Given the description of an element on the screen output the (x, y) to click on. 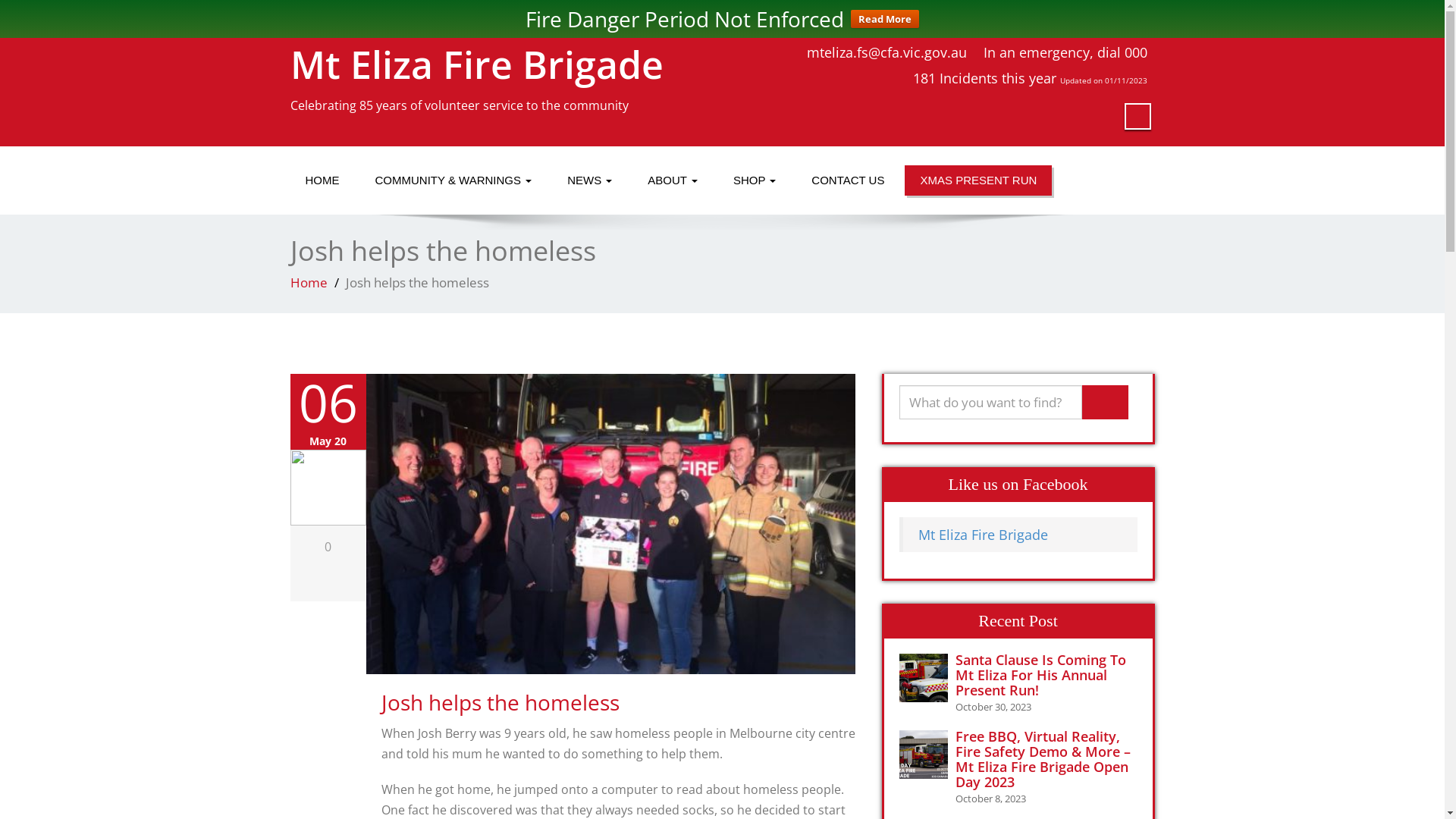
Josh helps the homeless Element type: text (499, 701)
Home Element type: text (307, 282)
0 Element type: text (327, 546)
ABOUT Element type: text (672, 180)
HOME Element type: text (321, 180)
COMMUNITY & WARNINGS Element type: text (452, 180)
NEWS Element type: text (589, 180)
Mt Eliza Fire Brigade Element type: text (982, 534)
Read More Element type: text (884, 18)
XMAS PRESENT RUN Element type: text (977, 180)
Mt Eliza Fire Brigade Element type: text (475, 64)
SHOP Element type: text (754, 180)
mteliza.fs@cfa.vic.gov.au Element type: text (886, 52)
CONTACT US Element type: text (847, 180)
